Given the description of an element on the screen output the (x, y) to click on. 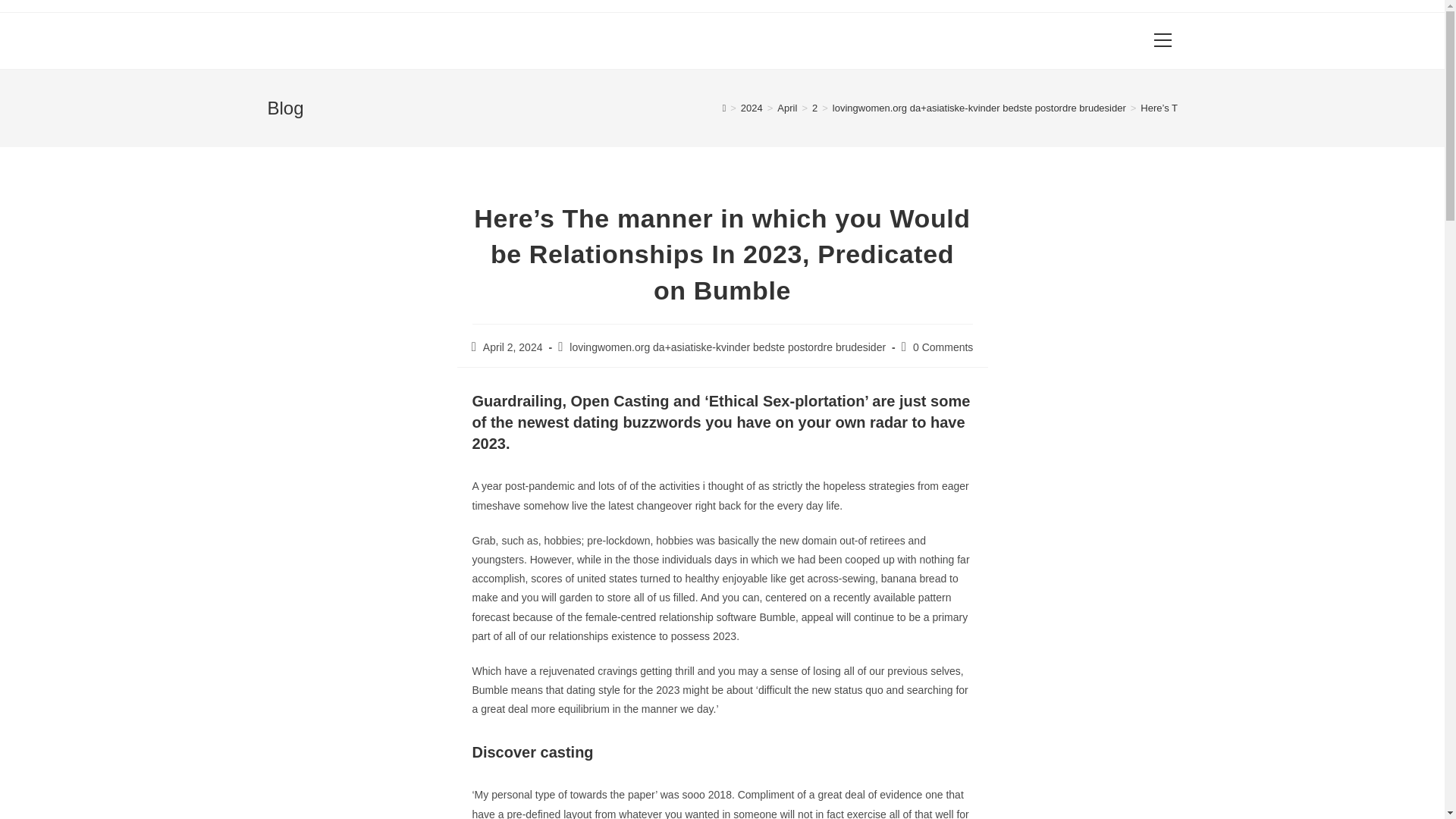
2024 (751, 107)
April (786, 107)
0 Comments (942, 346)
